Given the description of an element on the screen output the (x, y) to click on. 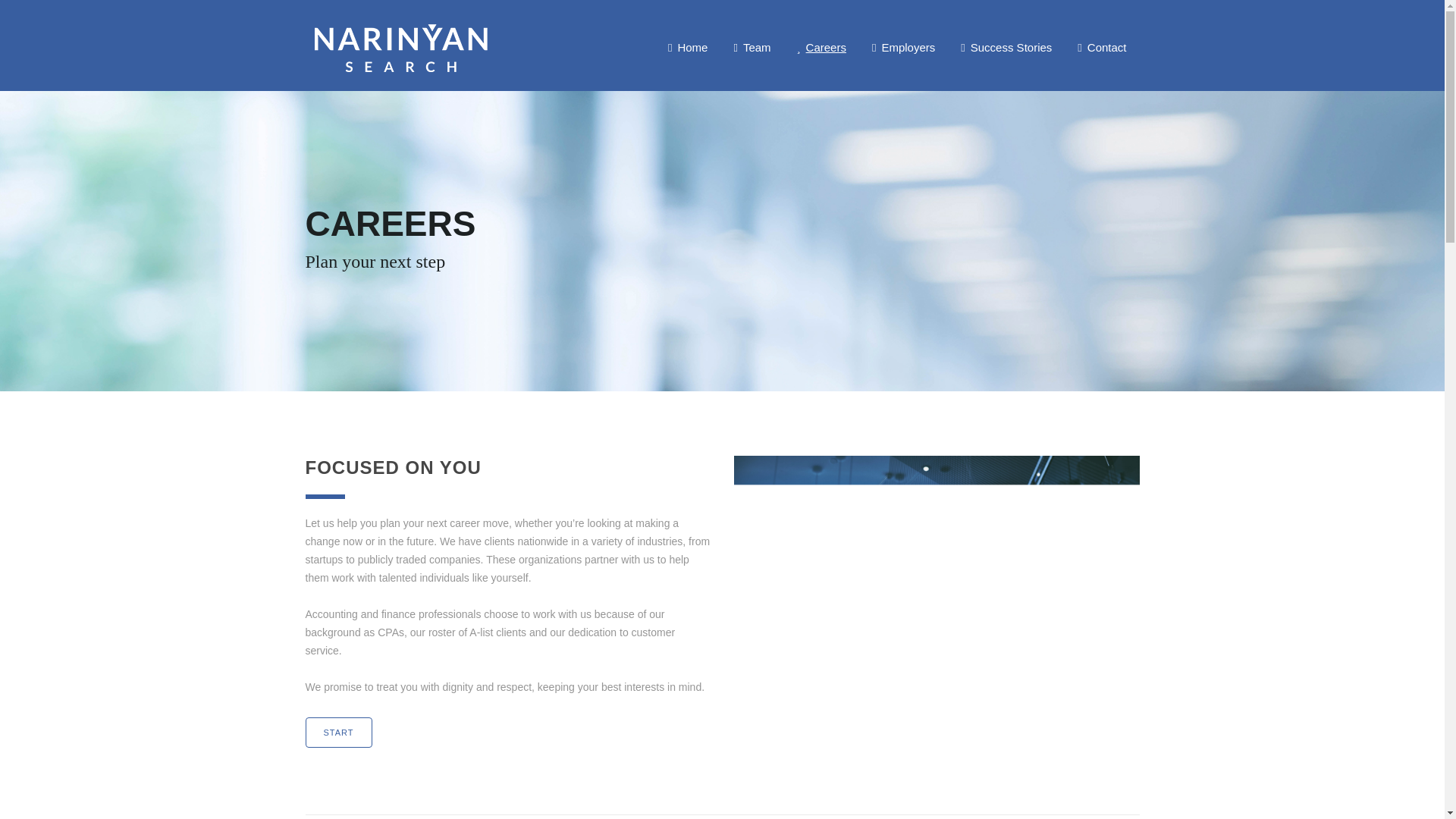
START (337, 732)
Employers (903, 47)
Success Stories (1005, 47)
